Given the description of an element on the screen output the (x, y) to click on. 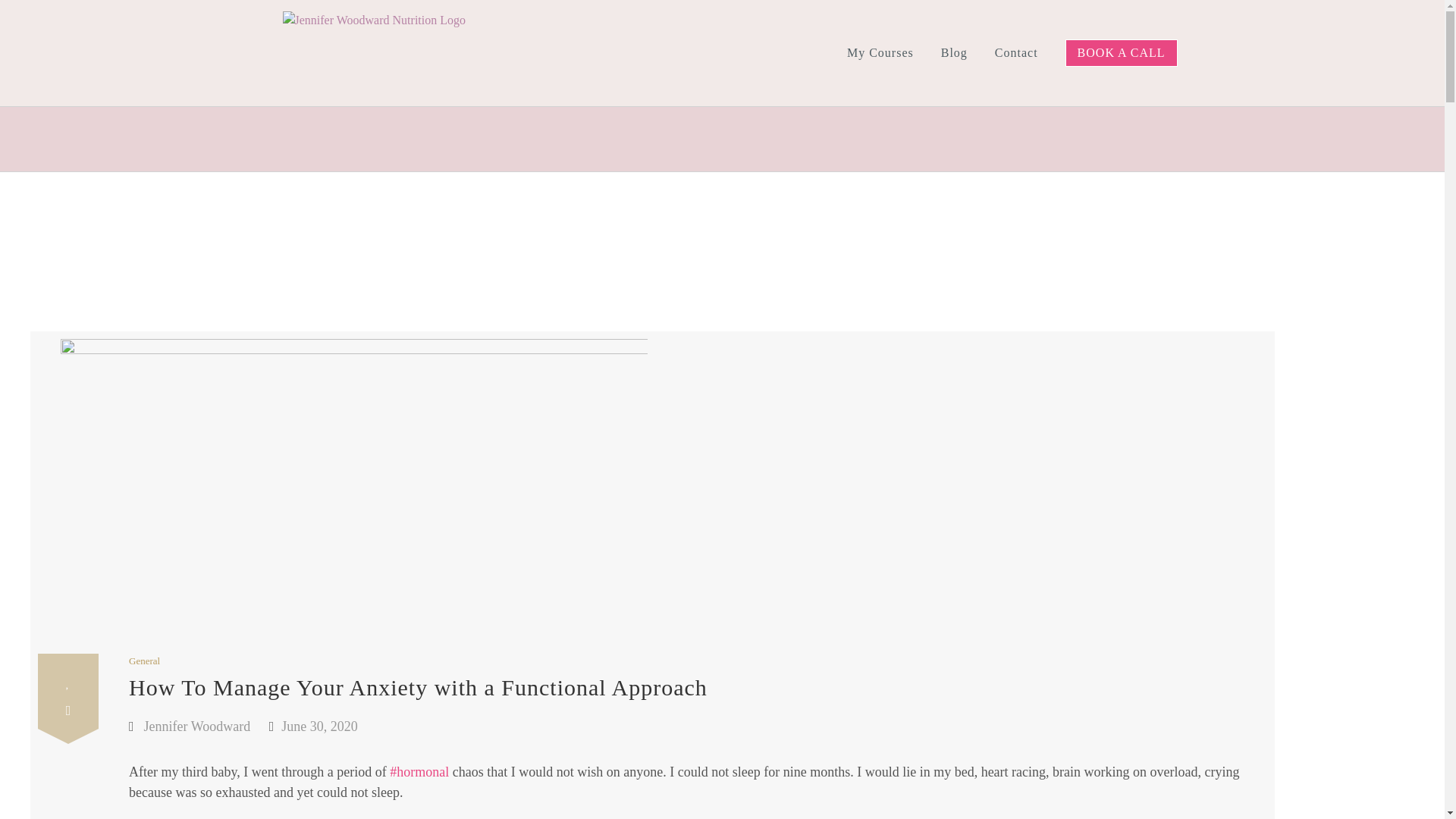
Jennifer Woodward (197, 726)
BOOK A CALL (1121, 53)
June 30, 2020 (319, 726)
General (144, 661)
